Given the description of an element on the screen output the (x, y) to click on. 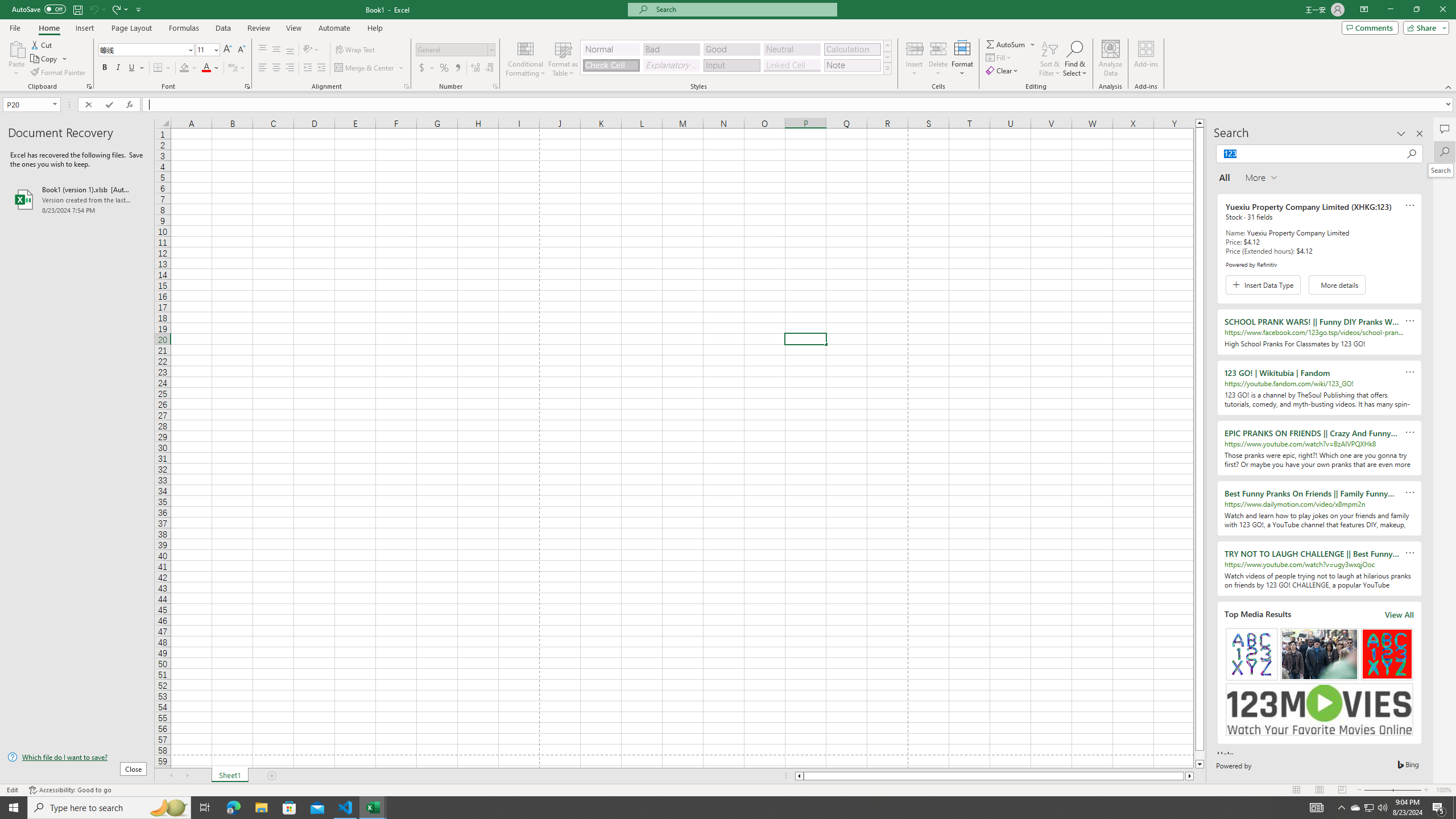
Format Painter (58, 72)
Calculation (852, 49)
Accounting Number Format (426, 67)
Font (147, 49)
Font Color RGB(255, 0, 0) (206, 67)
Cell Styles (887, 68)
Explanatory Text (671, 65)
Show Phonetic Field (231, 67)
